Given the description of an element on the screen output the (x, y) to click on. 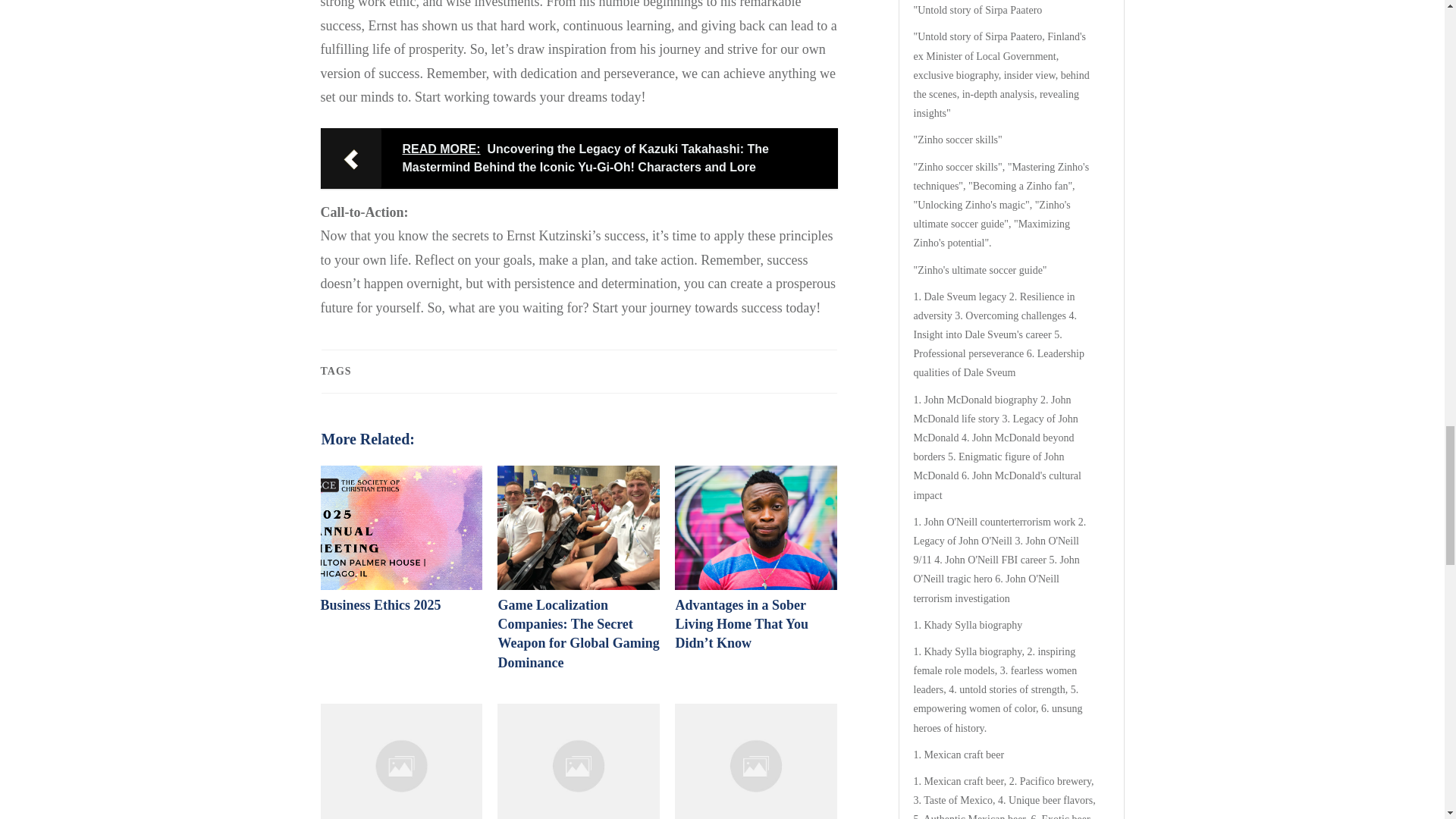
Business Ethics 2025 (380, 604)
Business Ethics 2025 (380, 604)
